Given the description of an element on the screen output the (x, y) to click on. 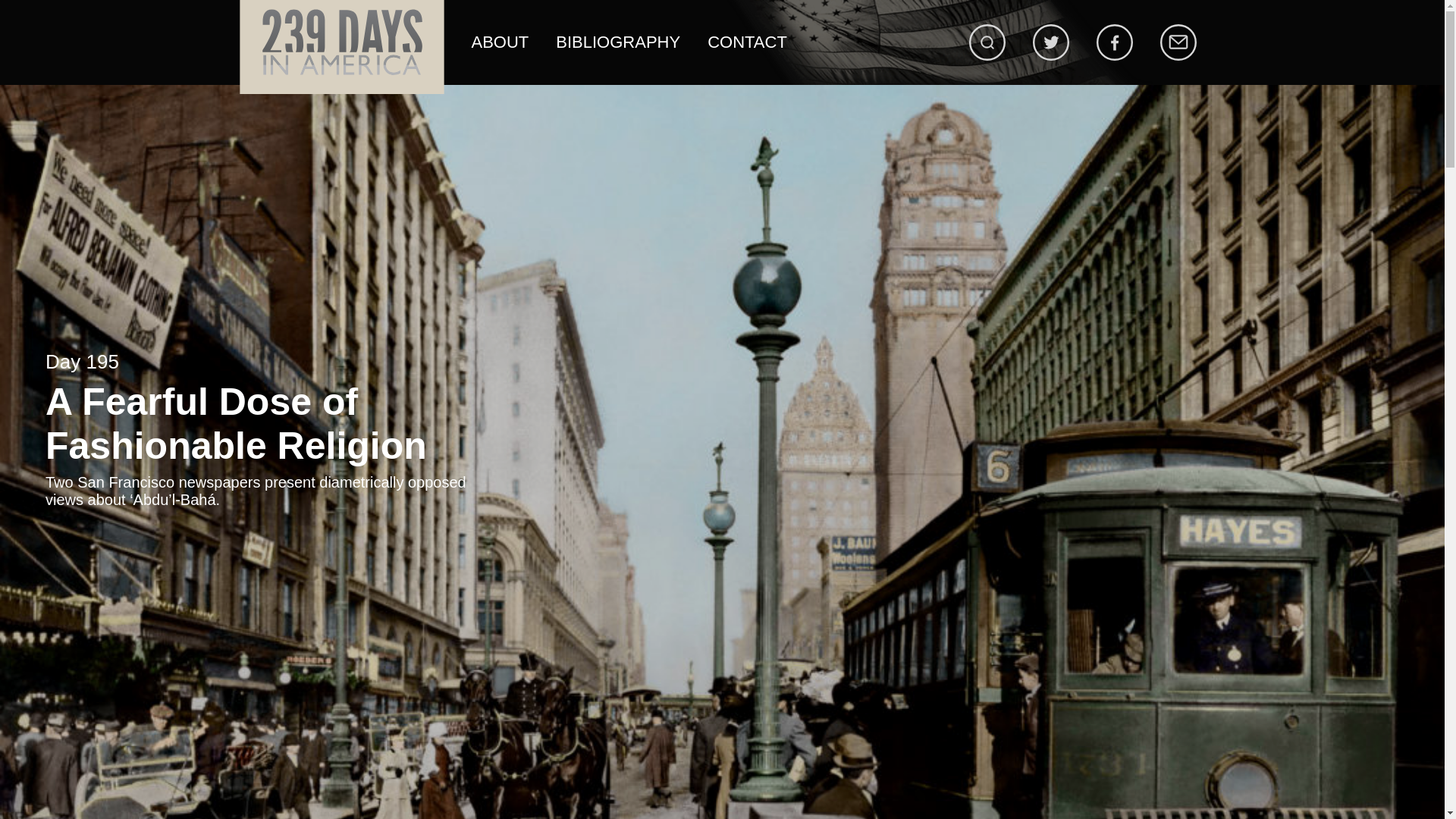
BIBLIOGRAPHY (617, 41)
ABOUT (500, 41)
CONTACT (747, 41)
